Given the description of an element on the screen output the (x, y) to click on. 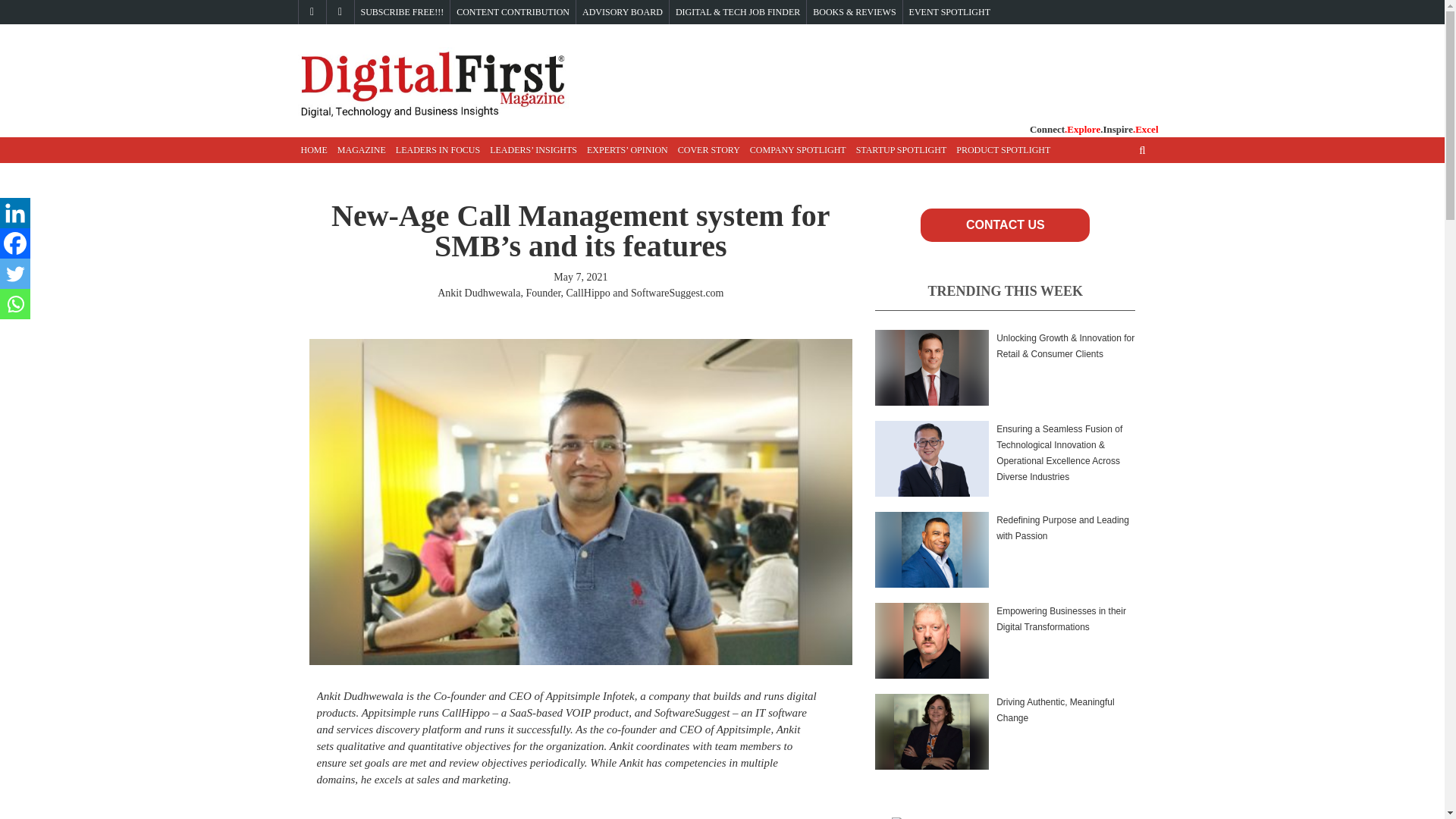
EVENT SPOTLIGHT (949, 12)
Whatsapp (15, 304)
COVER STORY (708, 149)
MAGAZINE (361, 149)
LEADERS IN FOCUS (438, 149)
Linkedin (15, 213)
HOME (313, 149)
Facebook (15, 243)
Twitter (15, 273)
SUBSCRIBE FREE!!! (402, 12)
